Given the description of an element on the screen output the (x, y) to click on. 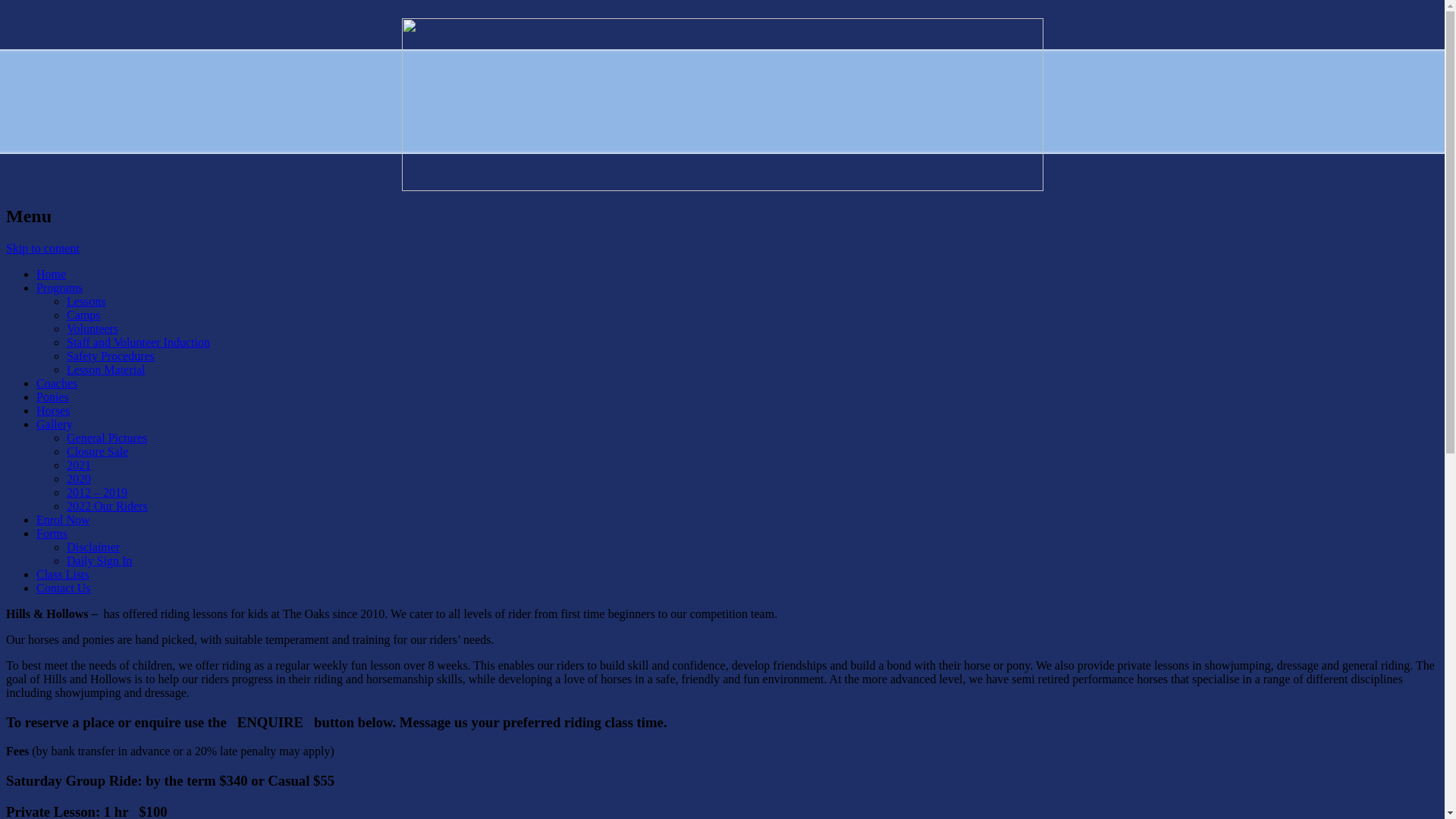
Contact Us Element type: text (63, 587)
Lesson Material Element type: text (105, 369)
Forms Element type: text (51, 533)
2020 Element type: text (78, 478)
Gallery Element type: text (54, 423)
Safety Procedures Element type: text (110, 355)
Camps Element type: text (83, 314)
Daily Sign In Element type: text (98, 560)
Volunteers Element type: text (92, 328)
Hills and Hollows Element type: hover (722, 104)
Home Element type: text (50, 273)
Enrol Now Element type: text (63, 519)
Hills and Hollows Element type: text (97, 47)
General Pictures Element type: text (106, 437)
Skip to content Element type: text (42, 247)
Programs Element type: text (59, 287)
2021 Element type: text (78, 464)
Closure Sale Element type: text (97, 451)
Class Lists Element type: text (62, 573)
Staff and Volunteer Induction Element type: text (138, 341)
Ponies Element type: text (52, 396)
Disclaimer Element type: text (92, 546)
2022 Our Riders Element type: text (106, 505)
Coaches Element type: text (56, 382)
Horses Element type: text (52, 410)
Lessons Element type: text (86, 300)
